Given the description of an element on the screen output the (x, y) to click on. 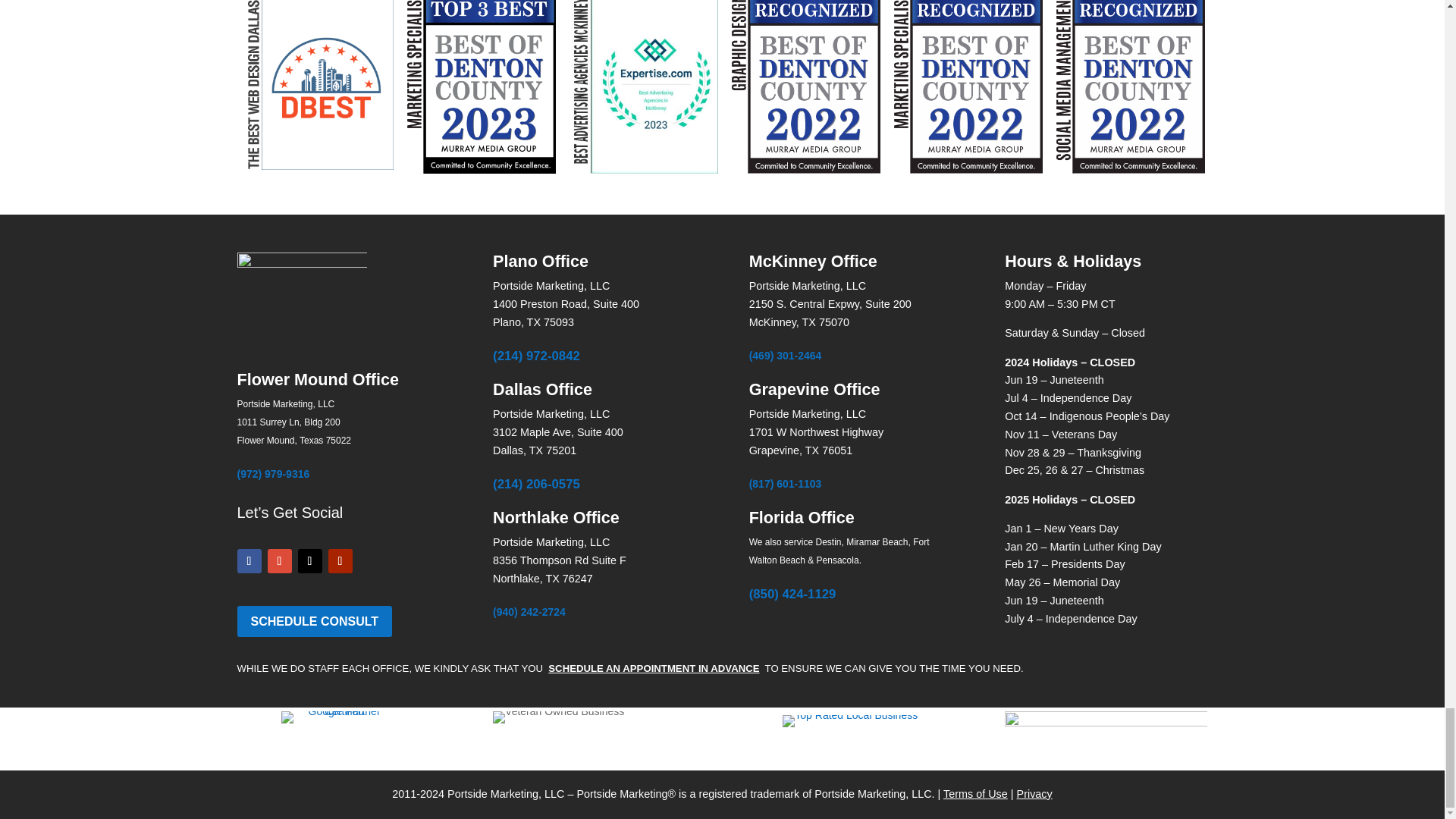
Veteran Owned Business (558, 717)
Follow on X (309, 560)
Follow on google-plus (278, 560)
Google Partner Certified (337, 717)
Follow on Facebook (247, 560)
Follow on Youtube (339, 560)
